Given the description of an element on the screen output the (x, y) to click on. 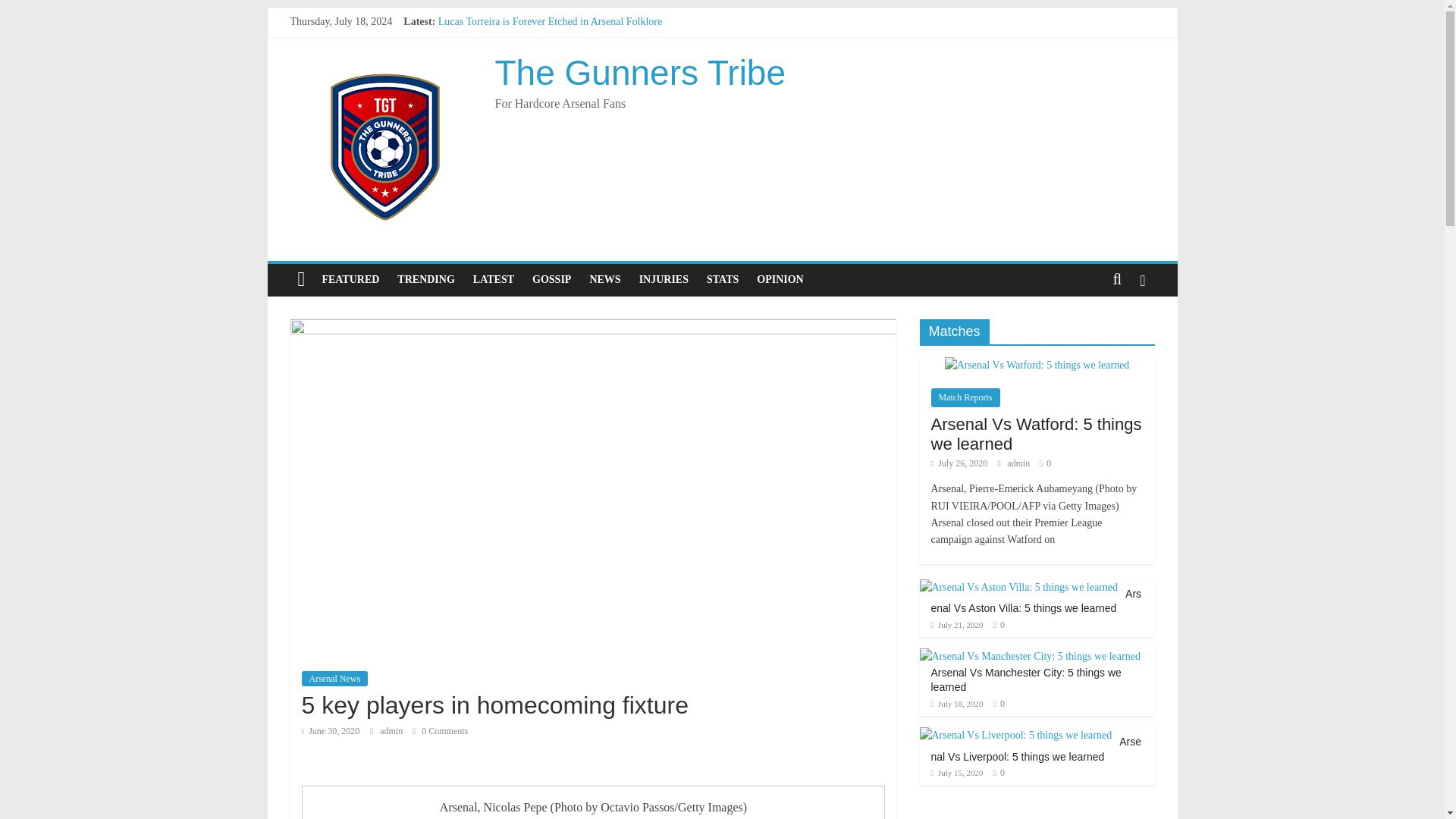
Lucas Torreira is Forever Etched in Arsenal Folklore (550, 21)
OPINION (780, 279)
The Gunners Tribe (640, 72)
admin (392, 730)
TRENDING (425, 279)
admin (392, 730)
The Gunners Tribe (640, 72)
NEWS (603, 279)
FEATURED (350, 279)
Arsenal News (334, 678)
Sokratis Omission Unfortunate Yet Necessary for Arsenal (560, 38)
0 Comments (439, 730)
GOSSIP (550, 279)
